Given the description of an element on the screen output the (x, y) to click on. 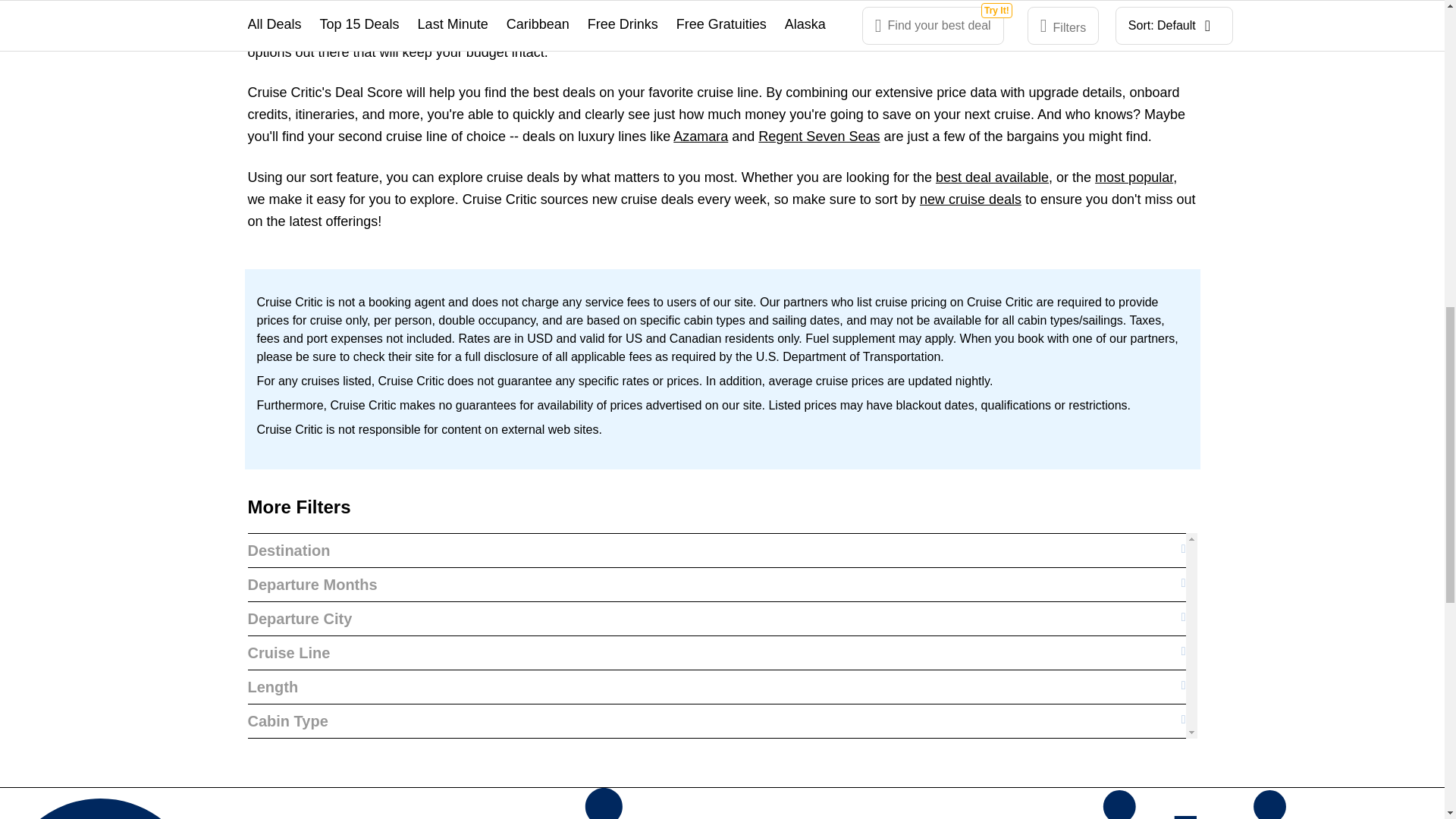
Azamara (700, 136)
Oceania Cruise (938, 29)
Royal Caribbean (758, 29)
Carnival (557, 29)
